Given the description of an element on the screen output the (x, y) to click on. 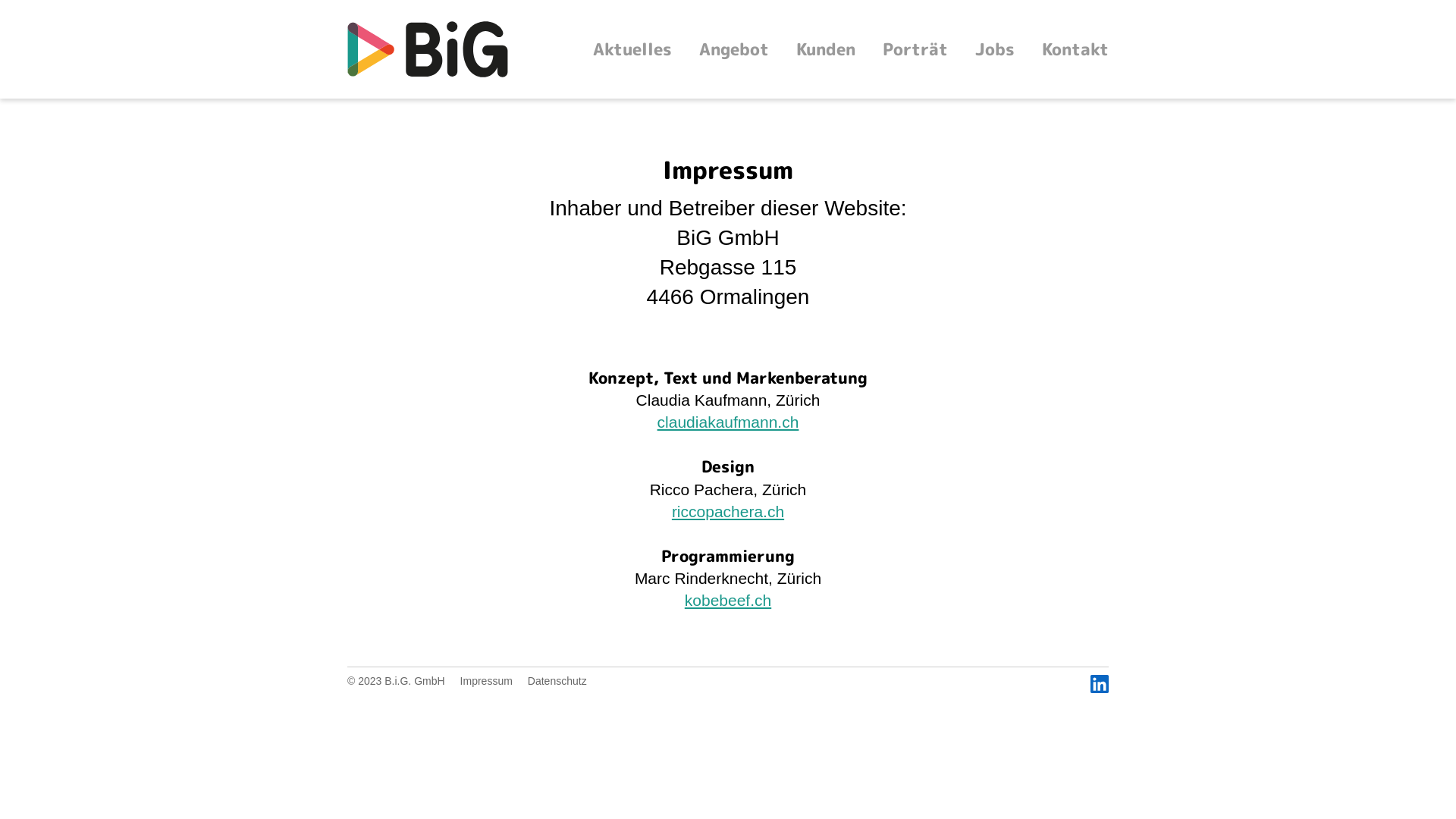
Kontakt Element type: text (1074, 48)
claudiakaufmann.ch Element type: text (728, 421)
Jobs Element type: text (994, 48)
riccopachera.ch Element type: text (727, 511)
Impressum Element type: text (486, 680)
Angebot Element type: text (733, 48)
Kunden Element type: text (825, 48)
Datenschutz Element type: text (556, 680)
Aktuelles Element type: text (632, 48)
kobebeef.ch Element type: text (727, 599)
